Given the description of an element on the screen output the (x, y) to click on. 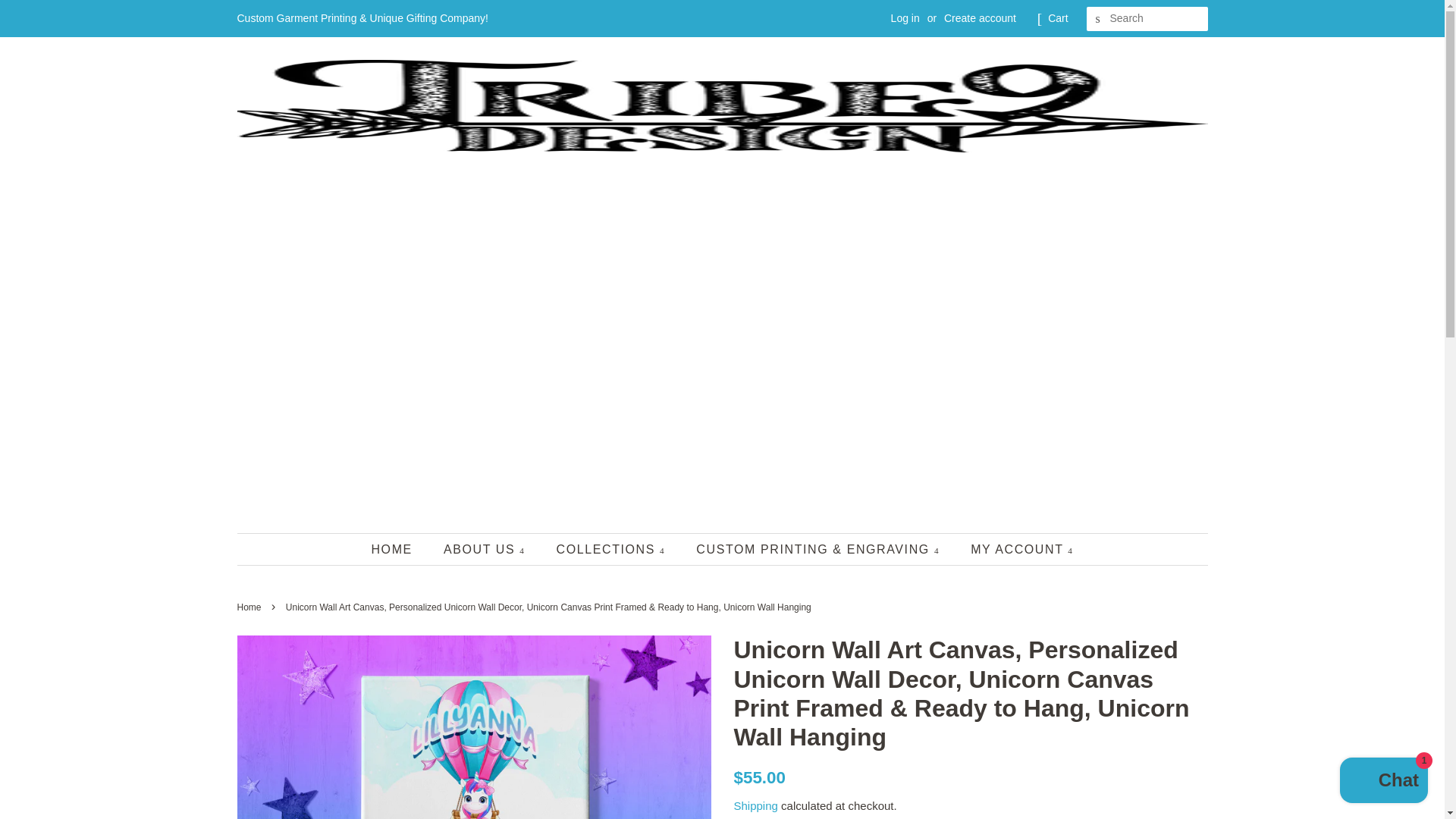
Log in (905, 18)
COLLECTIONS (612, 549)
Shopify online store chat (1383, 781)
Back to the frontpage (249, 606)
SEARCH (1097, 18)
Create account (979, 18)
Cart (1057, 18)
ABOUT US (486, 549)
HOME (398, 549)
